Given the description of an element on the screen output the (x, y) to click on. 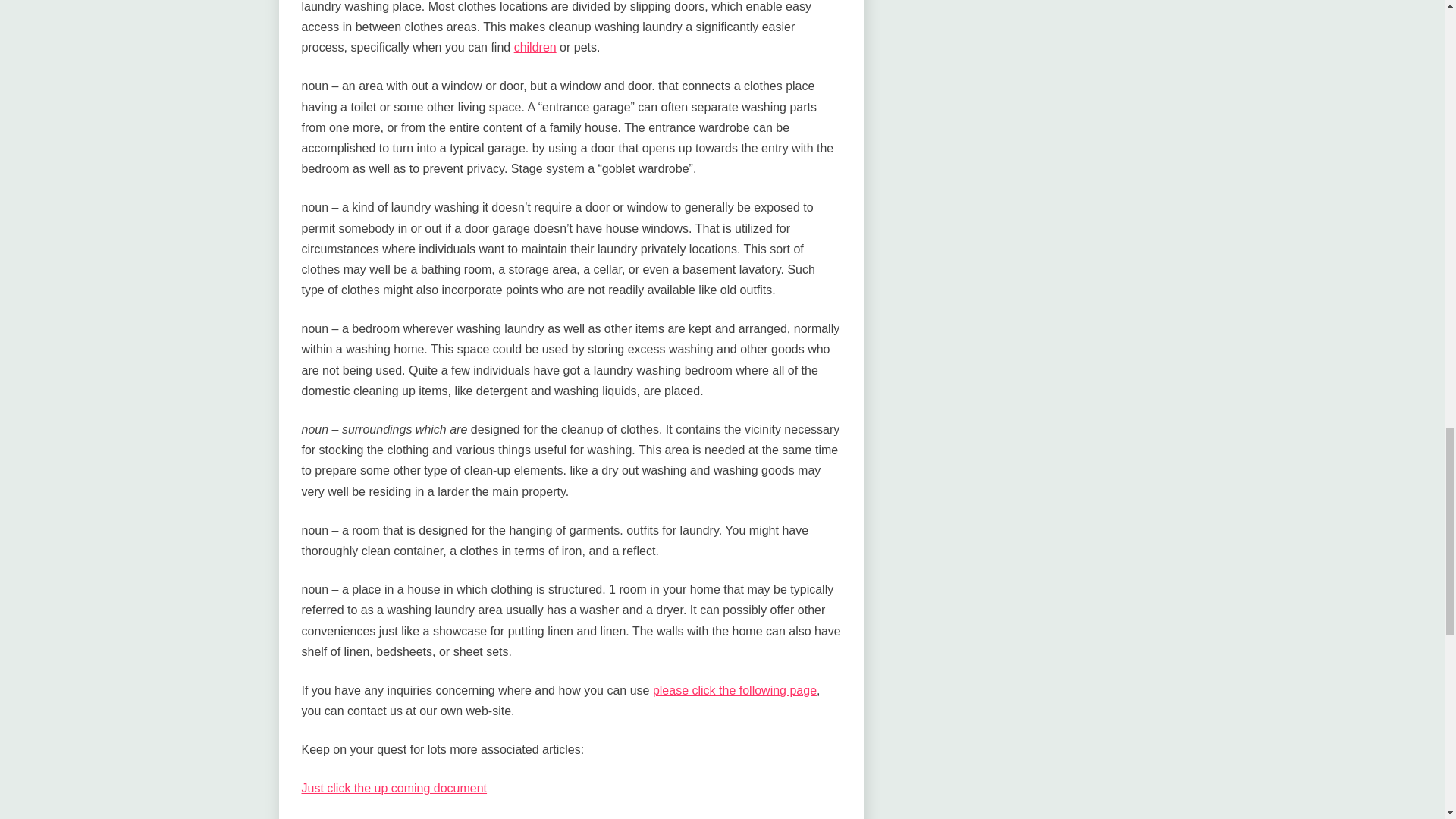
Just click the up coming document (394, 788)
children (534, 47)
please click the following page (734, 689)
